Given the description of an element on the screen output the (x, y) to click on. 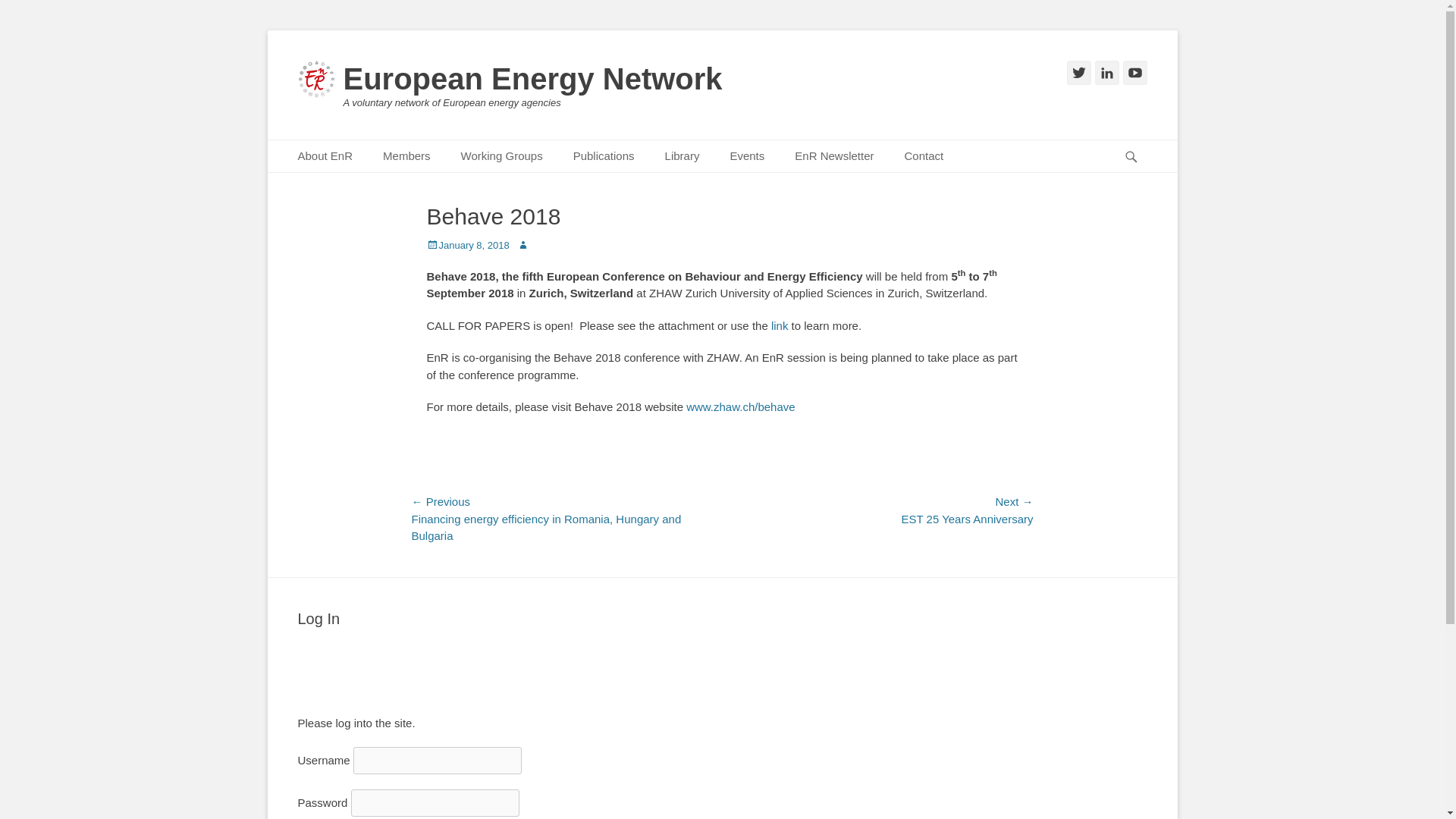
Library (681, 156)
YouTube (1134, 72)
About EnR (325, 156)
YouTube (1134, 72)
Publications (603, 156)
Working Groups (501, 156)
LinkedIn (1106, 72)
Twitter (1077, 72)
Members (406, 156)
Twitter (1077, 72)
European Energy Network (532, 78)
LinkedIn (1106, 72)
